Given the description of an element on the screen output the (x, y) to click on. 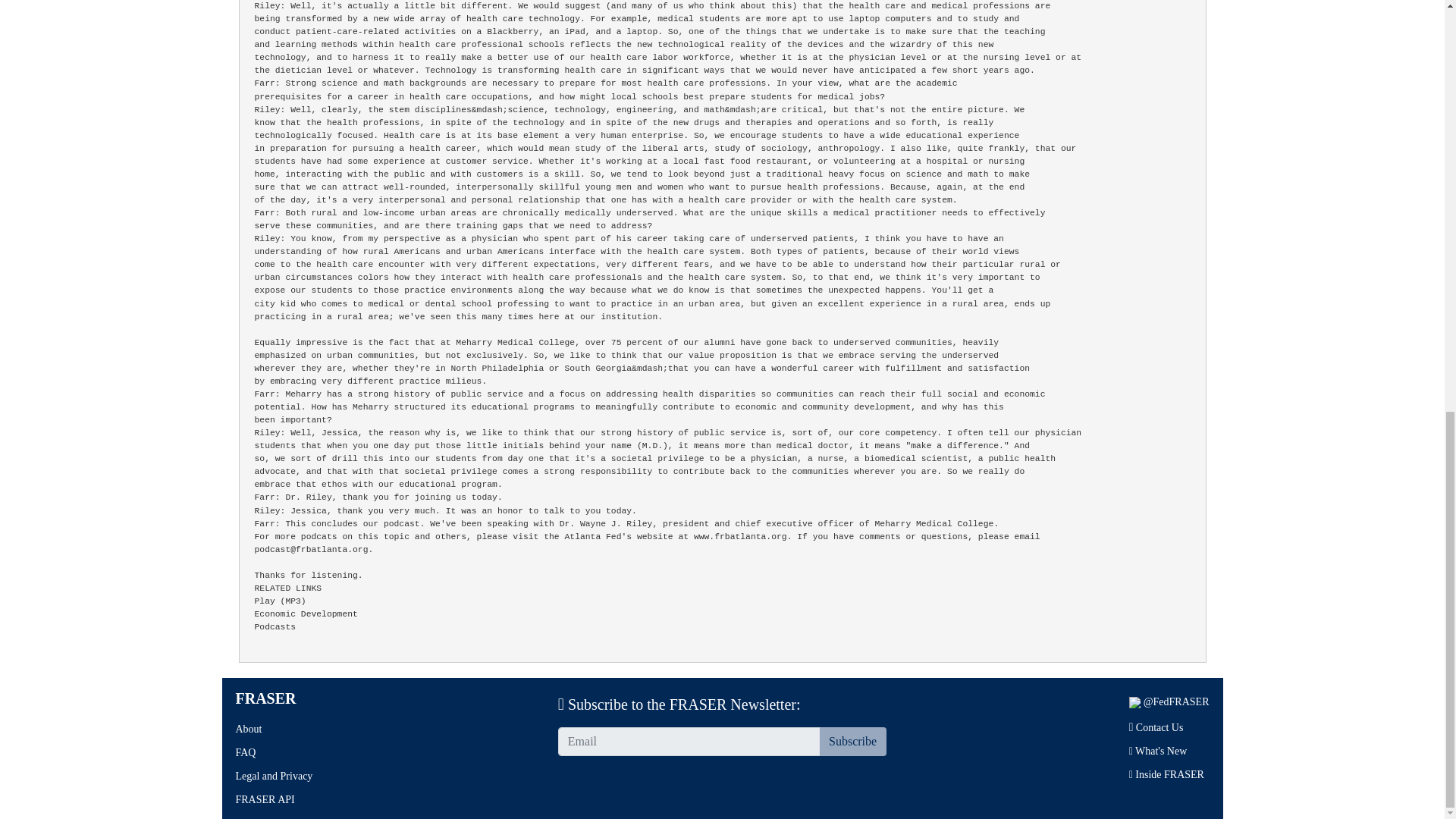
Legal and Privacy (273, 776)
Subscribe (852, 741)
FRASER API (264, 799)
About (248, 728)
FAQ (245, 752)
